Given the description of an element on the screen output the (x, y) to click on. 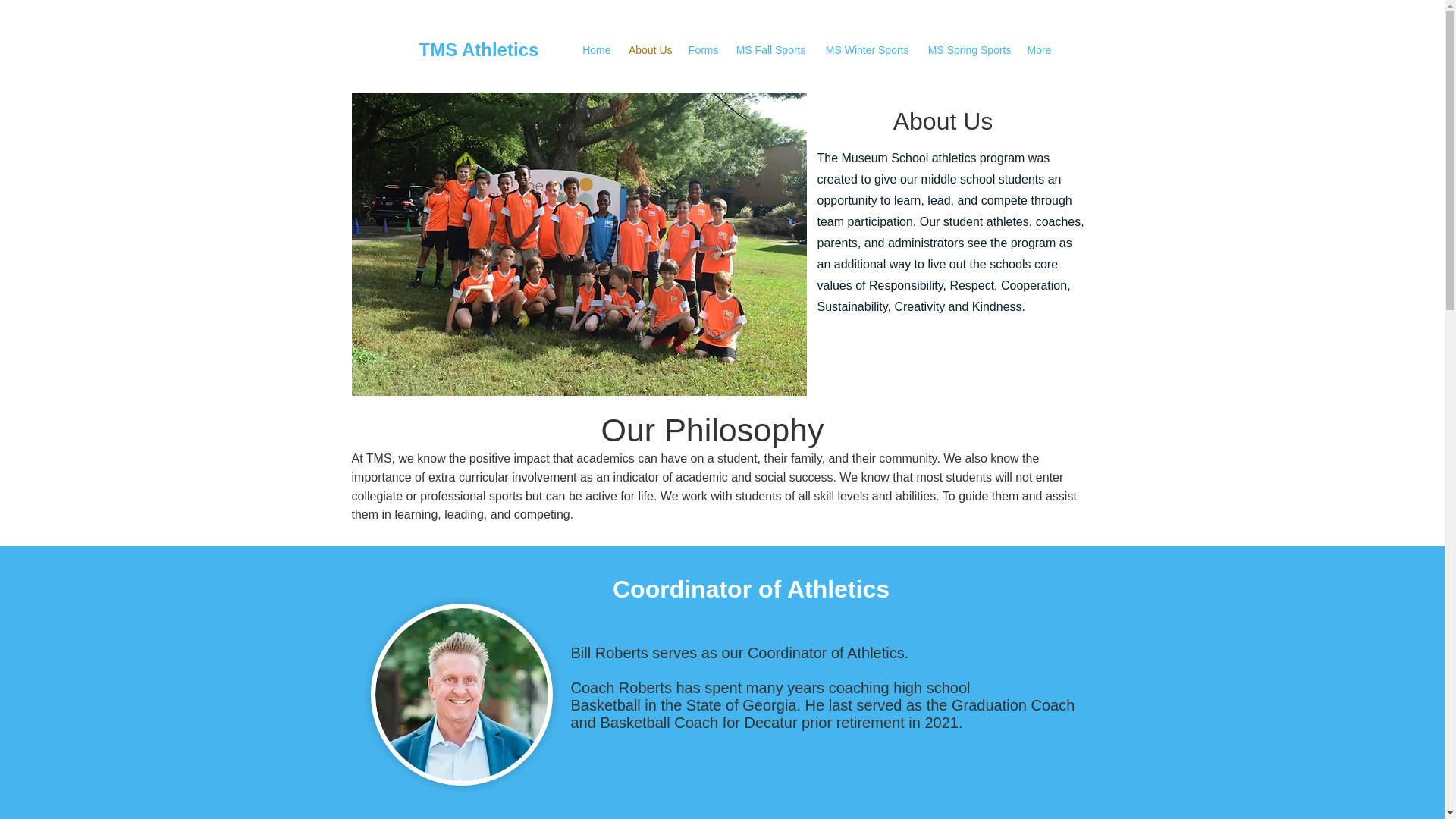
Forms (702, 49)
Home (595, 49)
MS Winter Sports (863, 49)
MS Fall Sports (769, 49)
About Us (648, 49)
MS Spring Sports (966, 49)
